Given the description of an element on the screen output the (x, y) to click on. 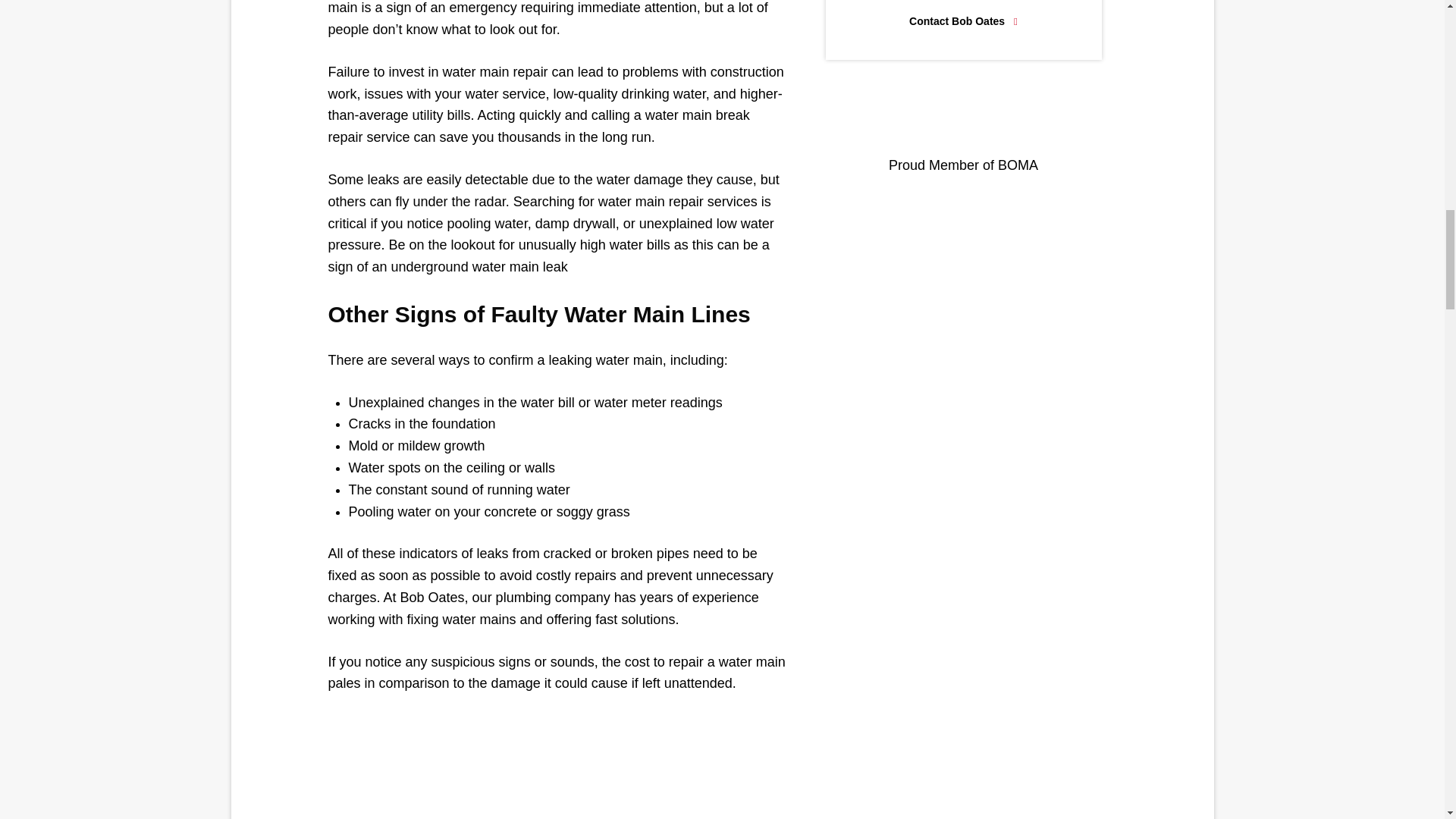
bob-oates-boma (963, 118)
